Given the description of an element on the screen output the (x, y) to click on. 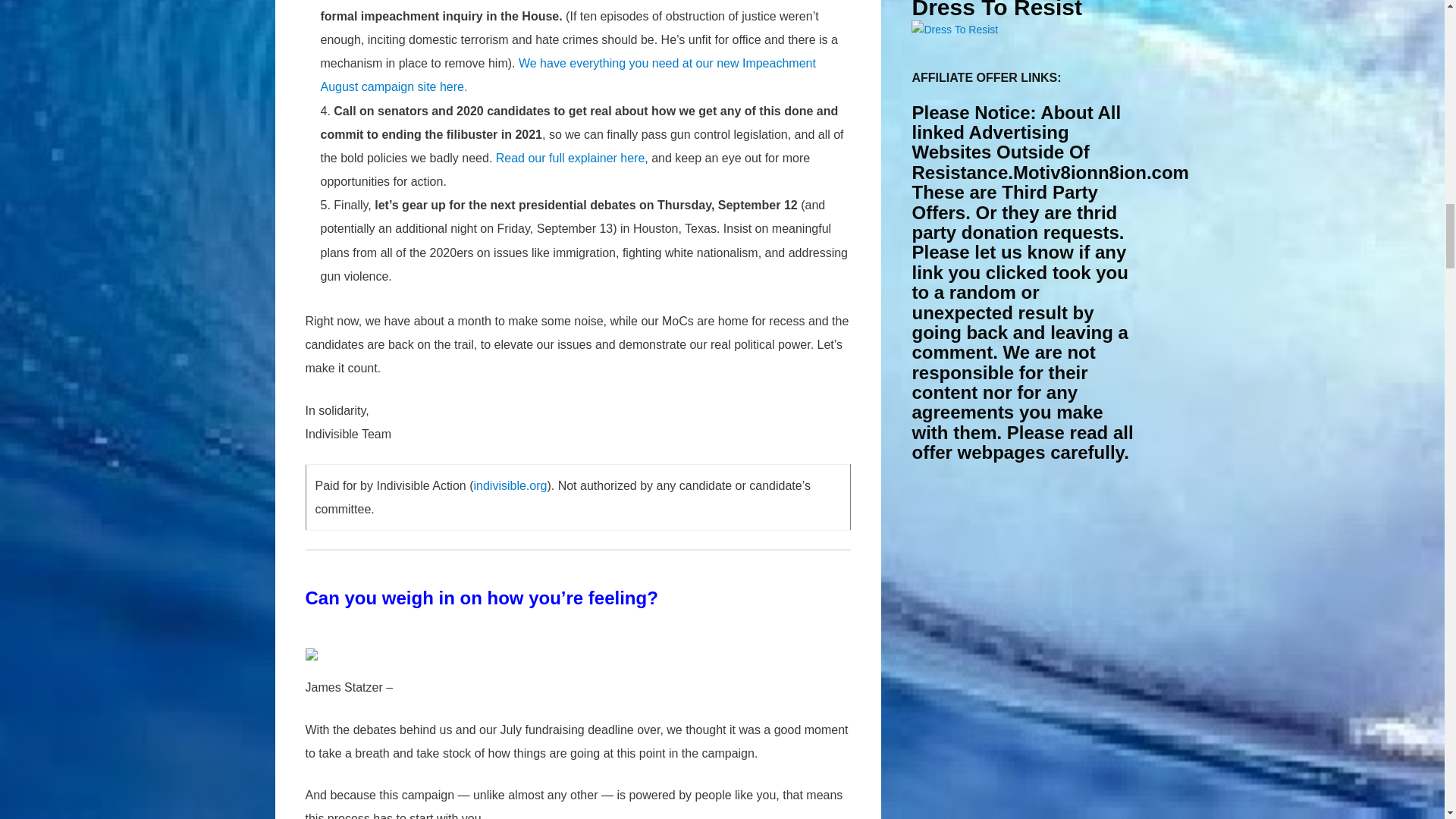
indivisible.org (510, 485)
Read our full explainer here (570, 157)
